Given the description of an element on the screen output the (x, y) to click on. 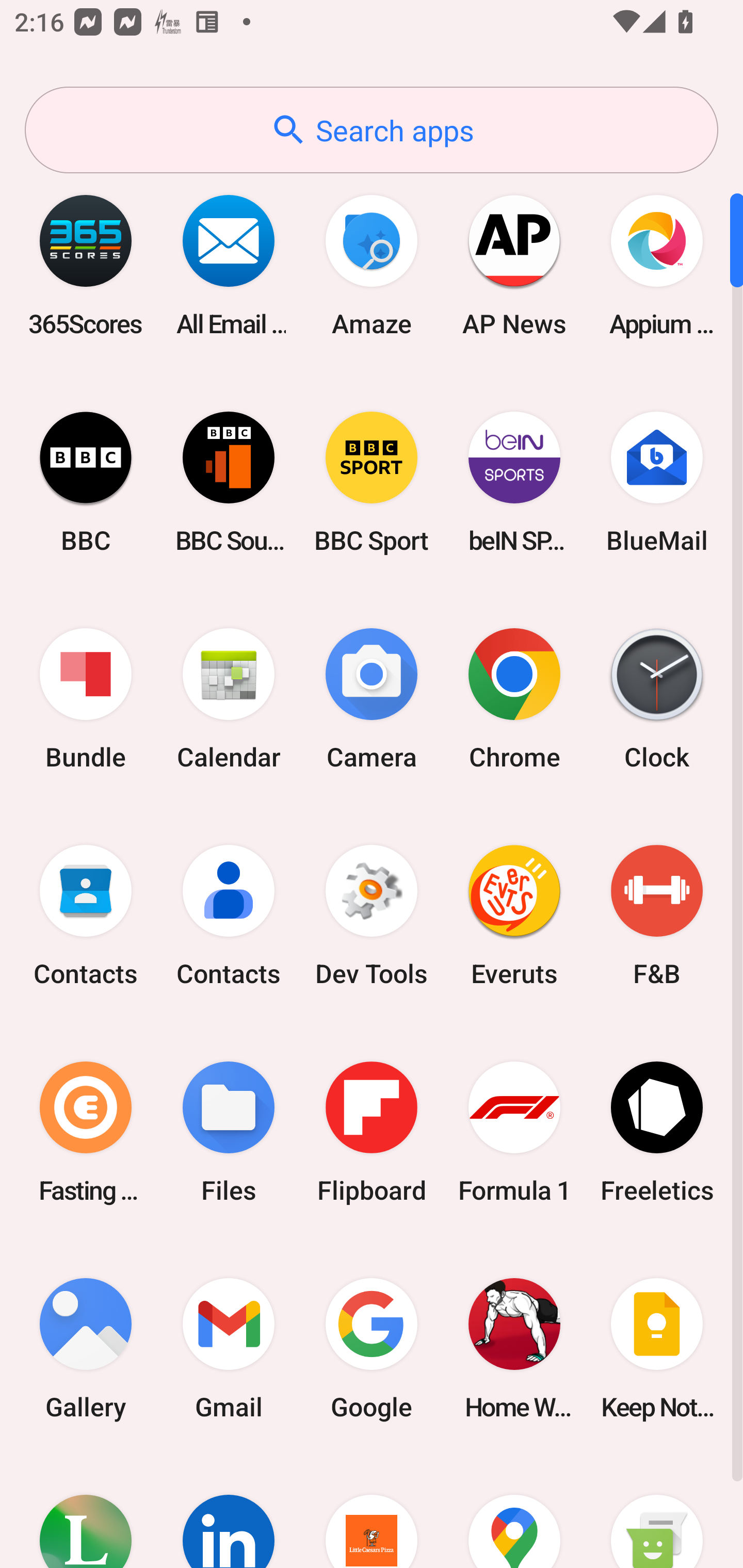
  Search apps (371, 130)
365Scores (85, 264)
All Email Connect (228, 264)
Amaze (371, 264)
AP News (514, 264)
Appium Settings (656, 264)
BBC (85, 482)
BBC Sounds (228, 482)
BBC Sport (371, 482)
beIN SPORTS (514, 482)
BlueMail (656, 482)
Bundle (85, 699)
Calendar (228, 699)
Camera (371, 699)
Chrome (514, 699)
Clock (656, 699)
Contacts (85, 915)
Contacts (228, 915)
Dev Tools (371, 915)
Everuts (514, 915)
F&B (656, 915)
Fasting Coach (85, 1131)
Files (228, 1131)
Flipboard (371, 1131)
Formula 1 (514, 1131)
Freeletics (656, 1131)
Gallery (85, 1348)
Gmail (228, 1348)
Google (371, 1348)
Home Workout (514, 1348)
Keep Notes (656, 1348)
Lifesum (85, 1512)
LinkedIn (228, 1512)
Little Caesars Pizza (371, 1512)
Maps (514, 1512)
Messaging (656, 1512)
